Given the description of an element on the screen output the (x, y) to click on. 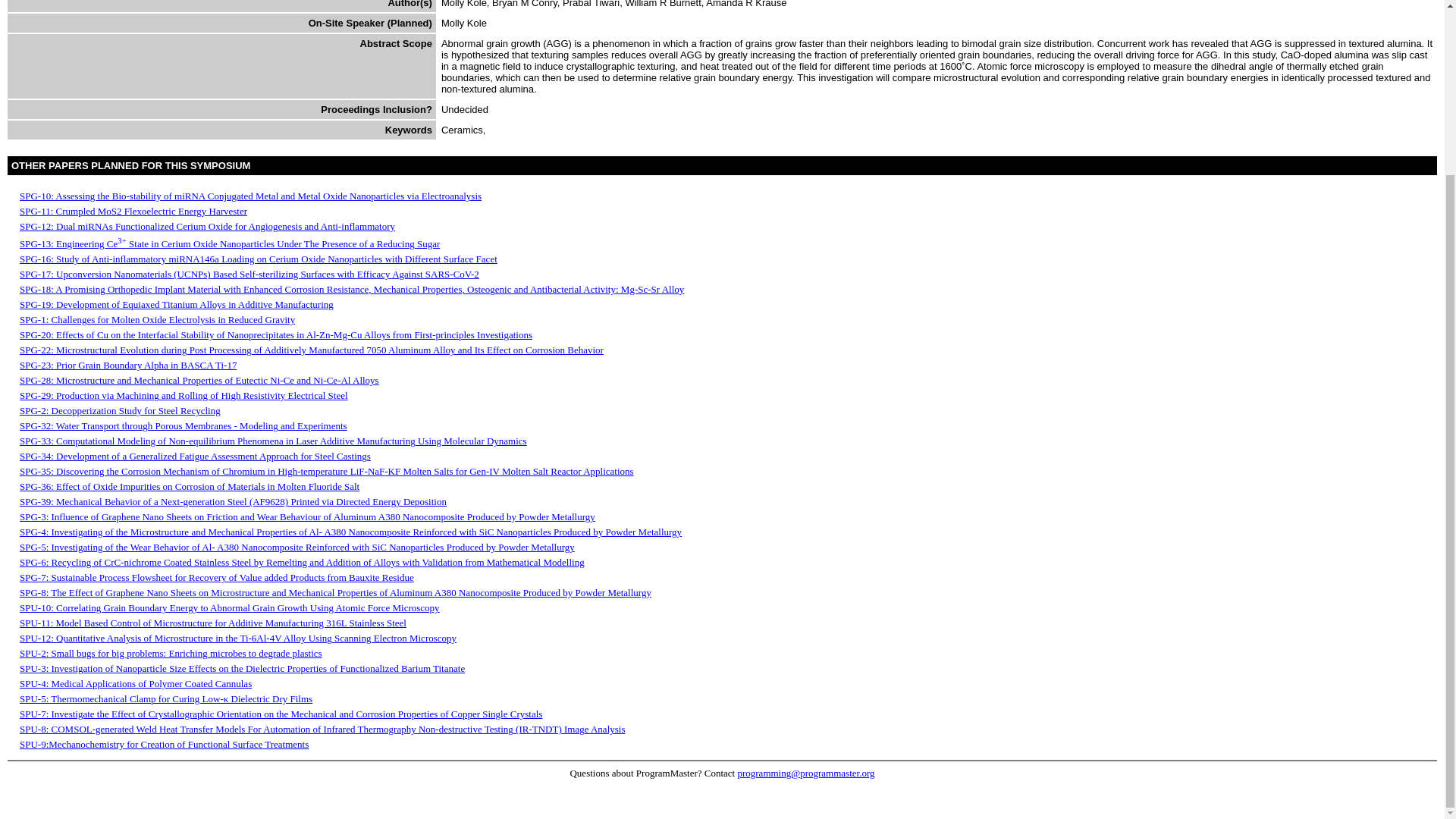
SPG-11: Crumpled MoS2 Flexoelectric Energy Harvester (133, 211)
SPG-23: Prior Grain Boundary Alpha in BASCA Ti-17 (127, 365)
